Given the description of an element on the screen output the (x, y) to click on. 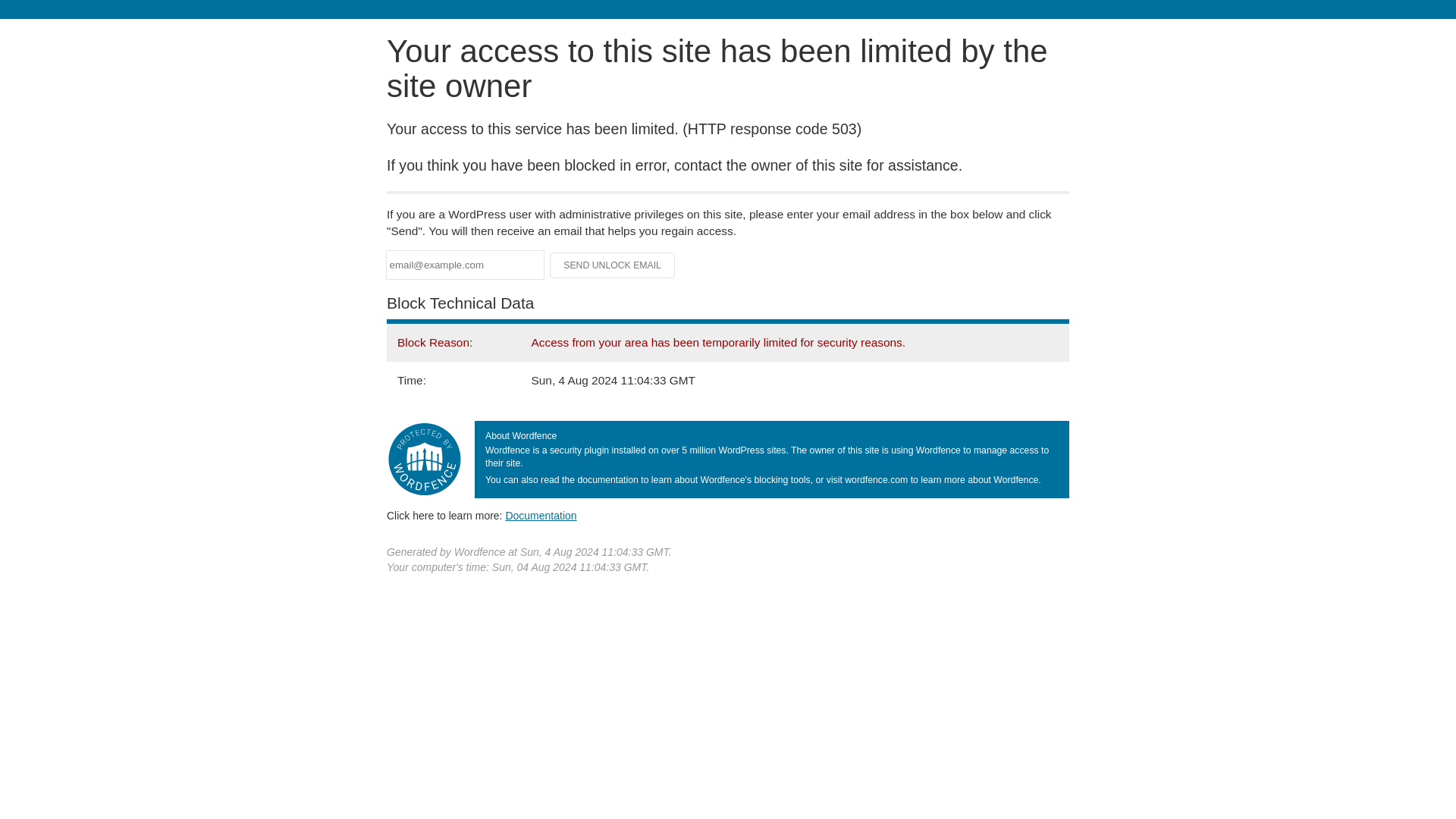
Send Unlock Email (612, 265)
Documentation (540, 515)
Send Unlock Email (612, 265)
